Given the description of an element on the screen output the (x, y) to click on. 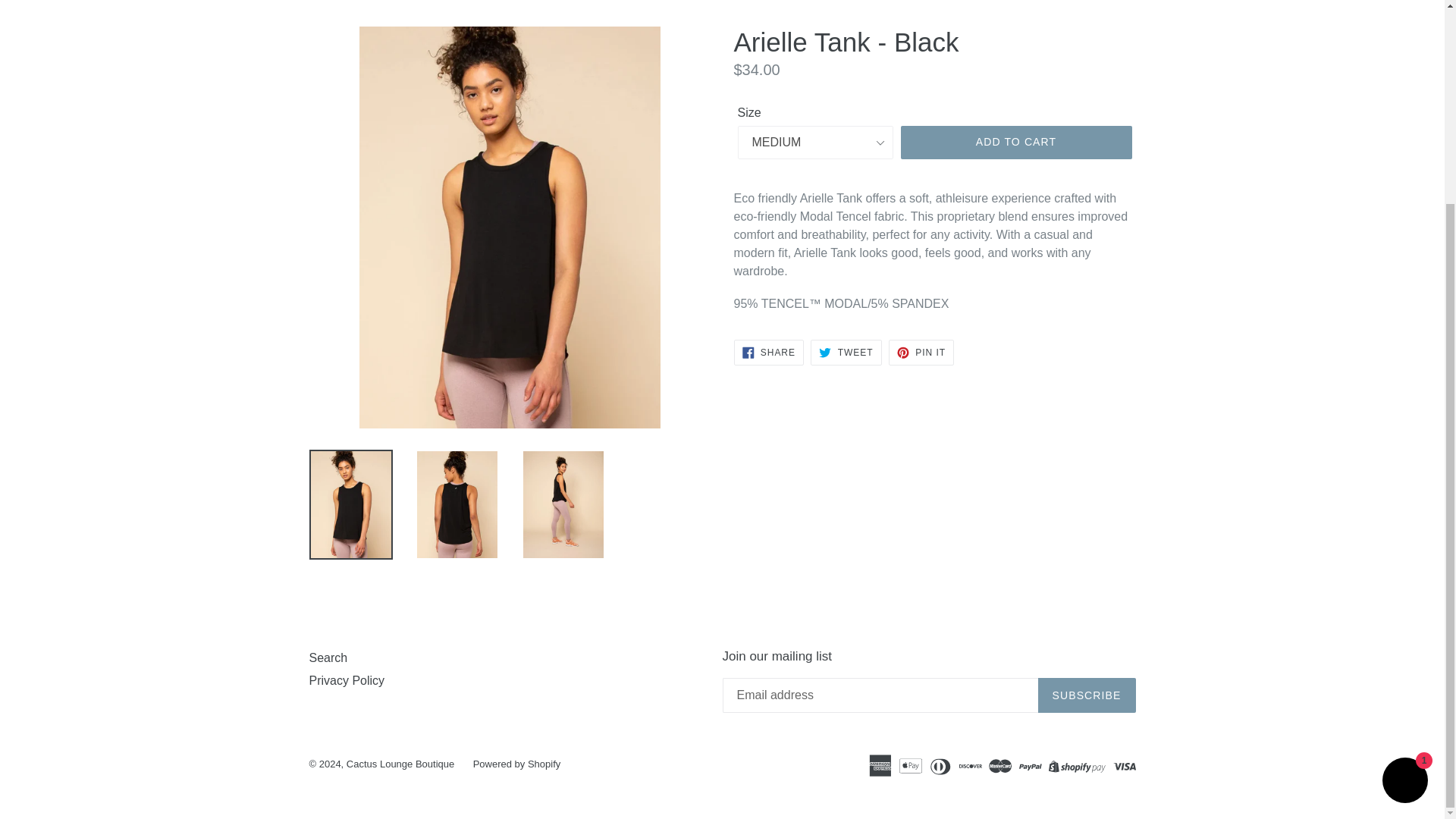
Pin on Pinterest (920, 352)
Shopify online store chat (1404, 521)
Tweet on Twitter (845, 352)
Share on Facebook (768, 352)
